Given the description of an element on the screen output the (x, y) to click on. 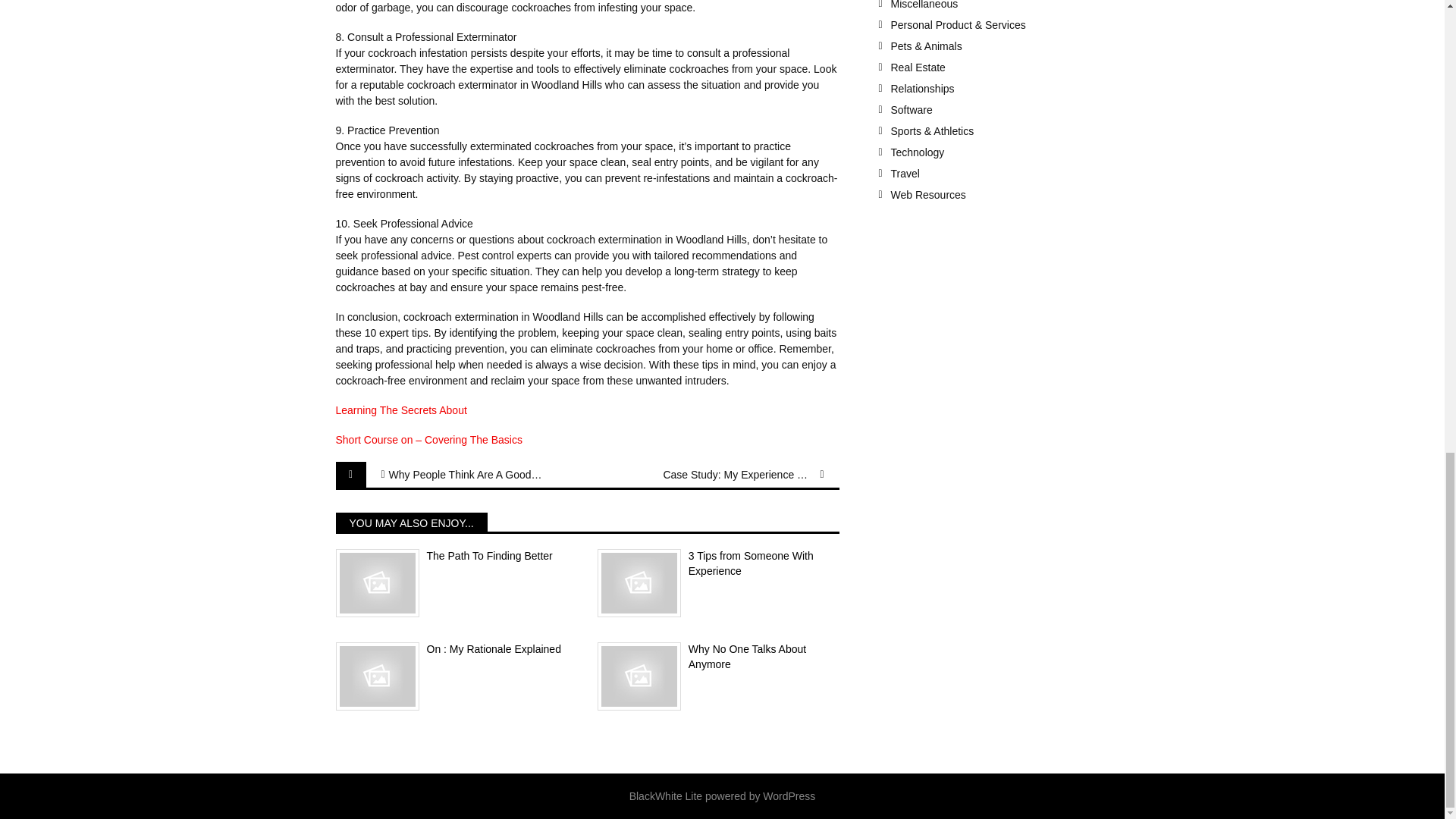
3 Tips from Someone With Experience (718, 563)
On : My Rationale Explained (455, 649)
The Path To Finding Better (455, 556)
Learning The Secrets About (399, 410)
Why No One Talks About Anymore (718, 656)
Case Study: My Experience With (739, 474)
Why People Think Are A Good Idea (464, 474)
